Given the description of an element on the screen output the (x, y) to click on. 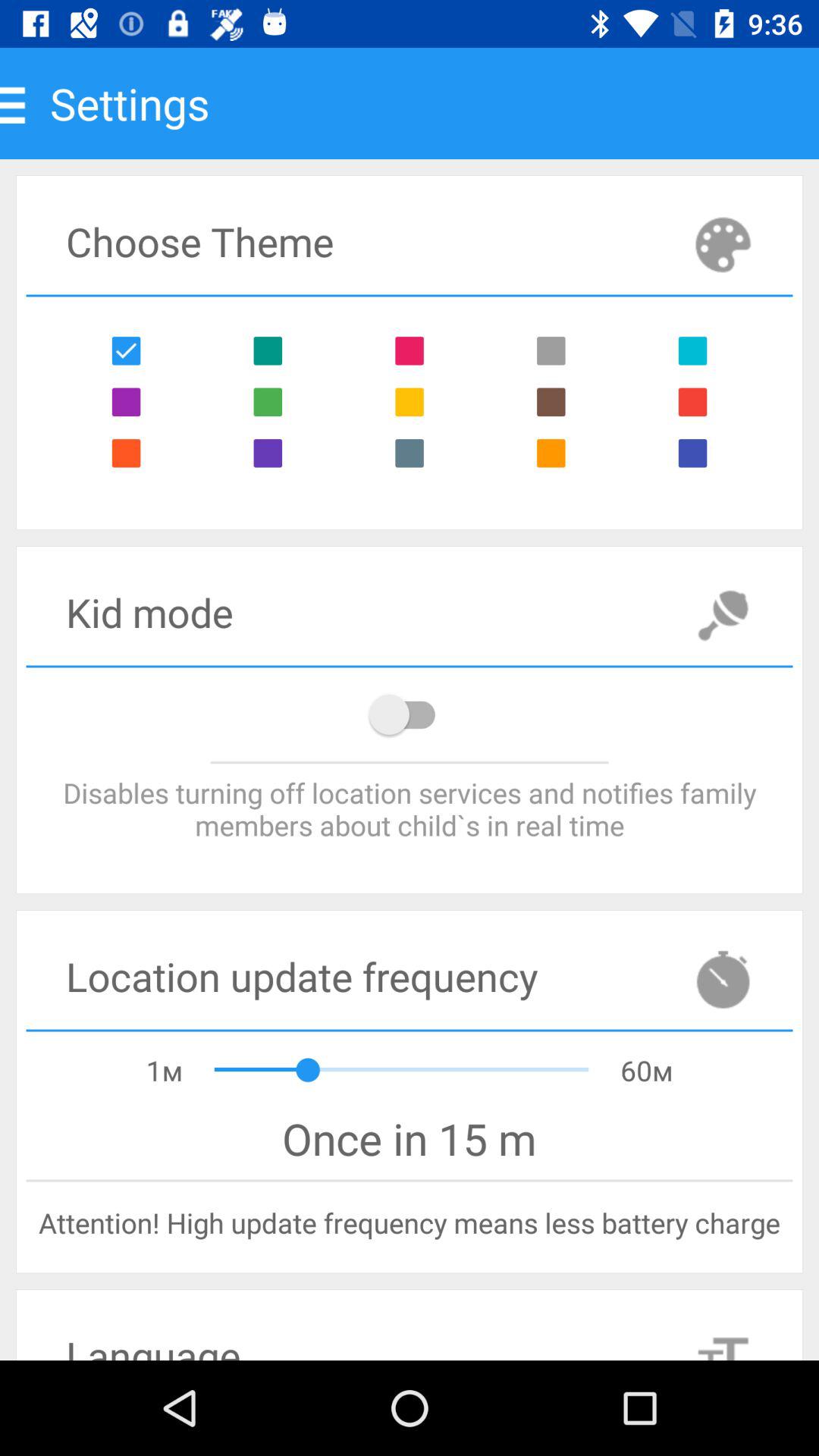
toggle location notifications on (409, 714)
